Given the description of an element on the screen output the (x, y) to click on. 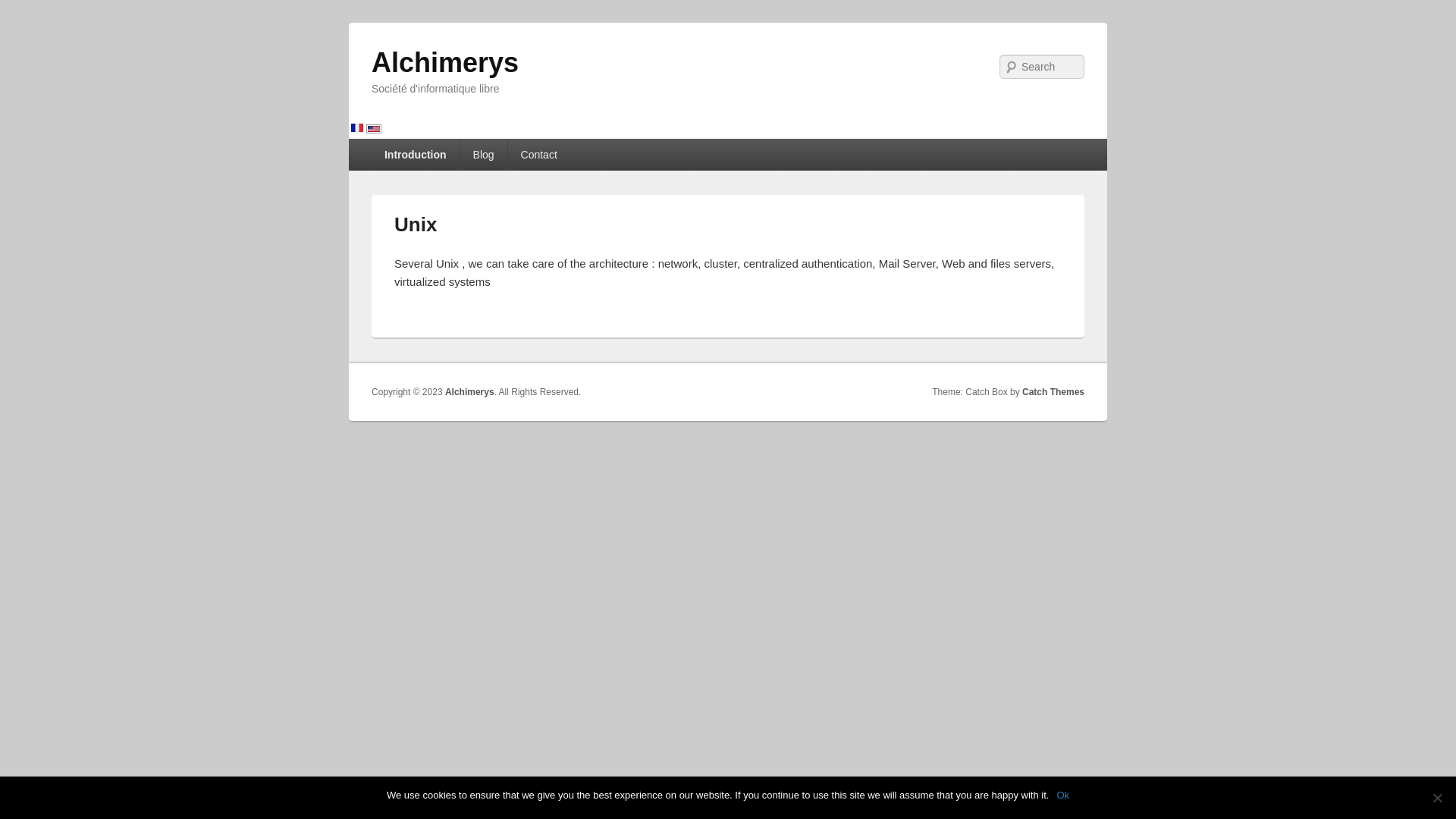
Alchimerys Element type: text (469, 391)
Ok Element type: text (1062, 794)
English Element type: hover (373, 129)
Introduction Element type: text (415, 154)
fr_FR Element type: text (356, 128)
Alchimerys Element type: text (444, 62)
en_US Element type: text (373, 129)
Skip to primary content Element type: text (429, 147)
Catch Themes Element type: text (1053, 391)
Contact Element type: text (539, 154)
Skip to secondary content Element type: text (436, 147)
Search Element type: text (24, 8)
Blog Element type: text (483, 154)
